Given the description of an element on the screen output the (x, y) to click on. 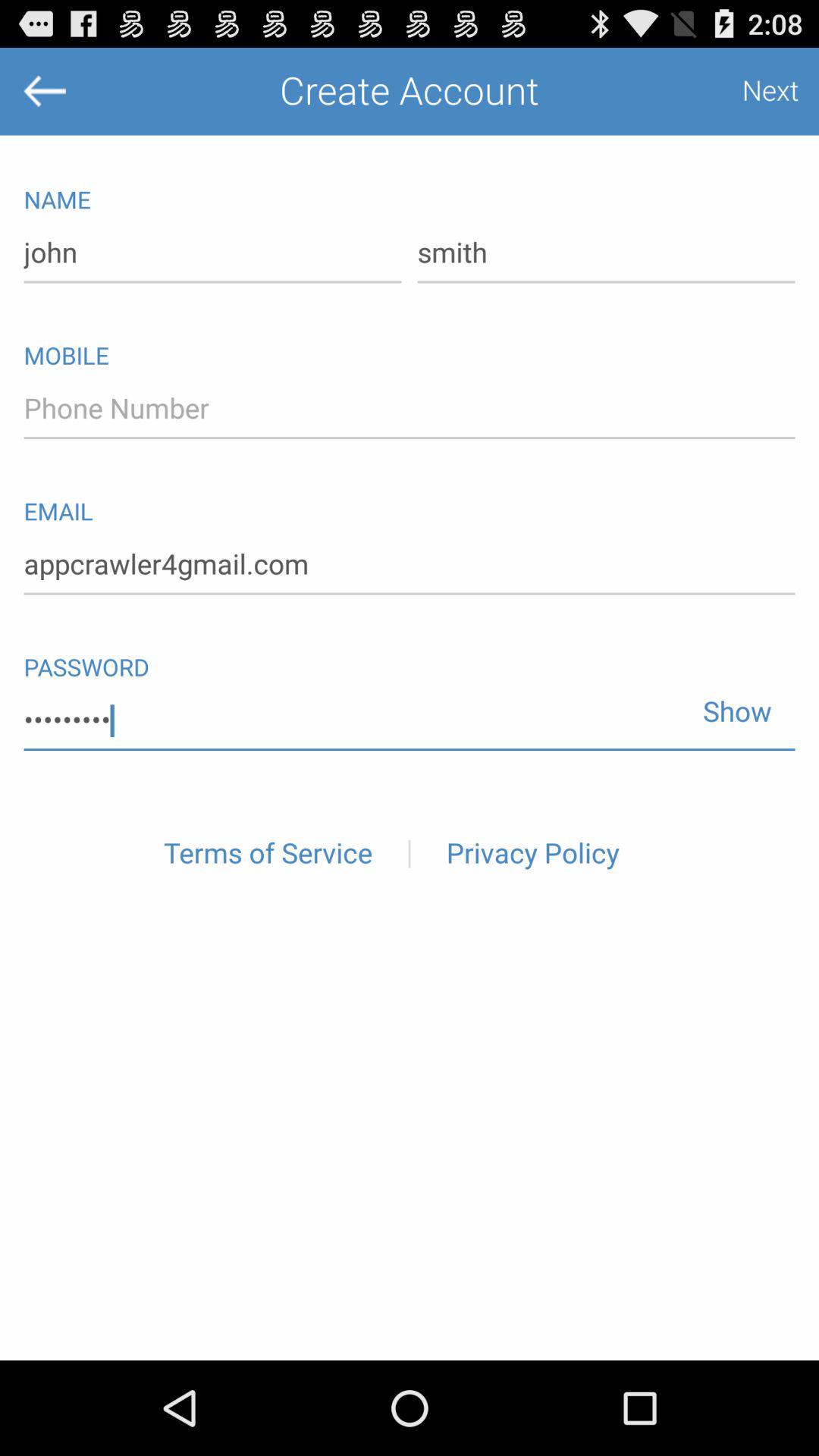
swipe until the show (731, 704)
